Given the description of an element on the screen output the (x, y) to click on. 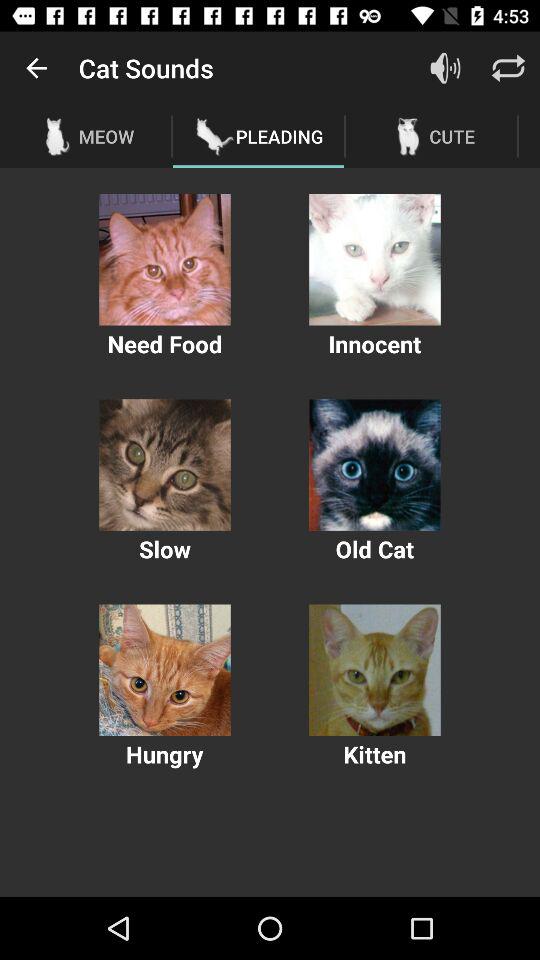
image button (374, 464)
